Given the description of an element on the screen output the (x, y) to click on. 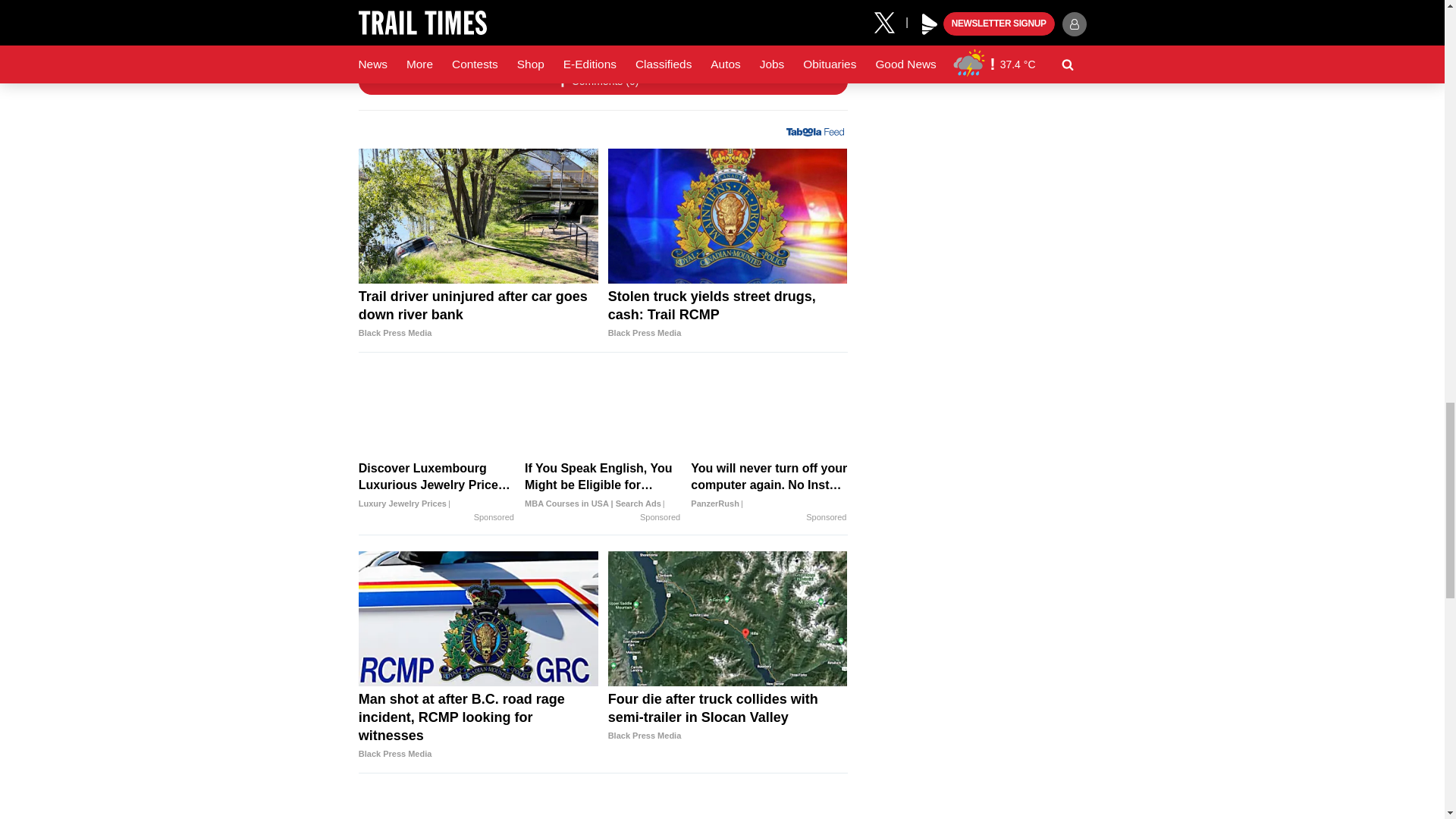
Show Comments (602, 81)
